Given the description of an element on the screen output the (x, y) to click on. 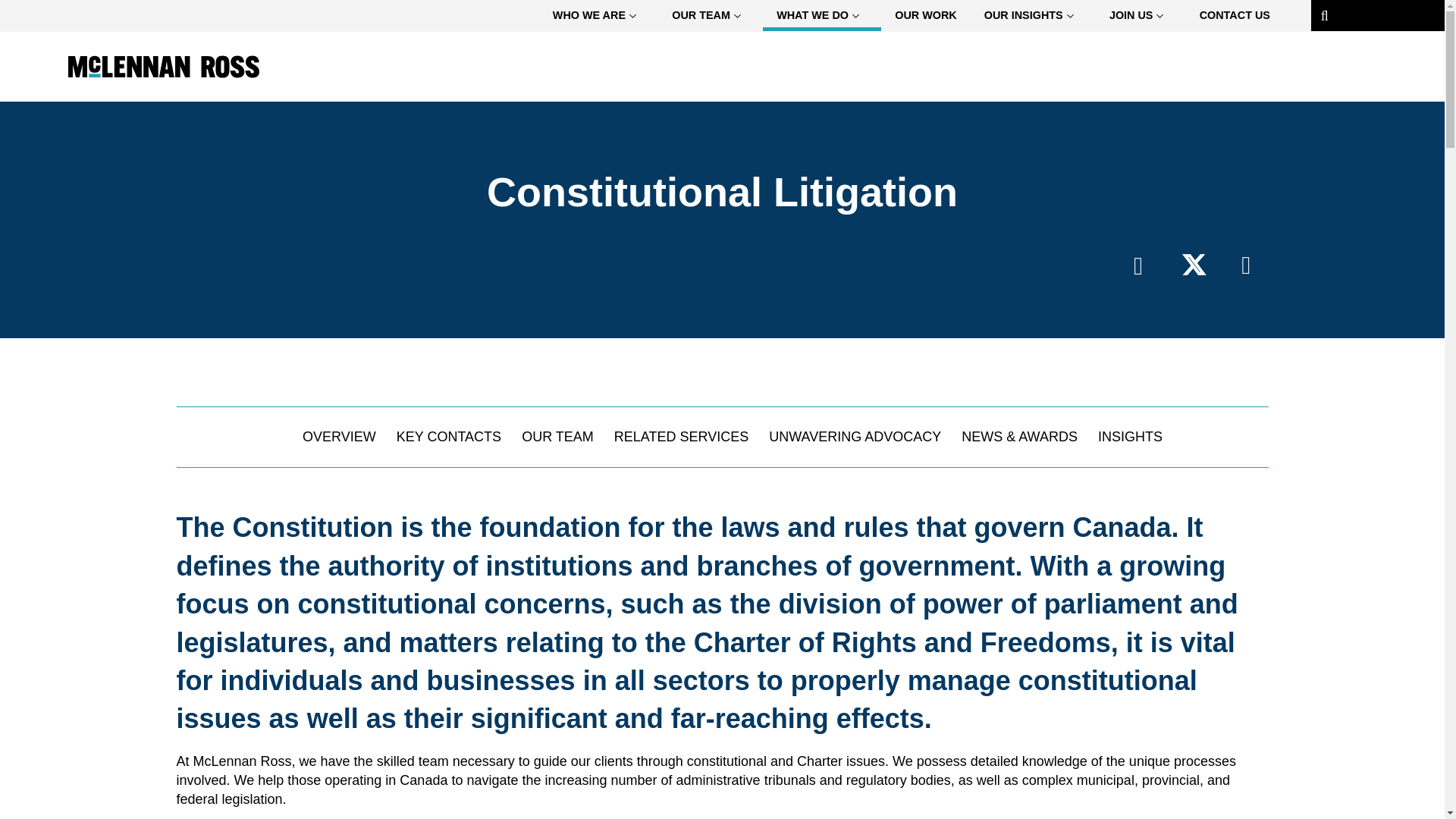
Company Name (163, 66)
Share onTwitter (1189, 265)
Share on LinkedIn (1241, 265)
